Given the description of an element on the screen output the (x, y) to click on. 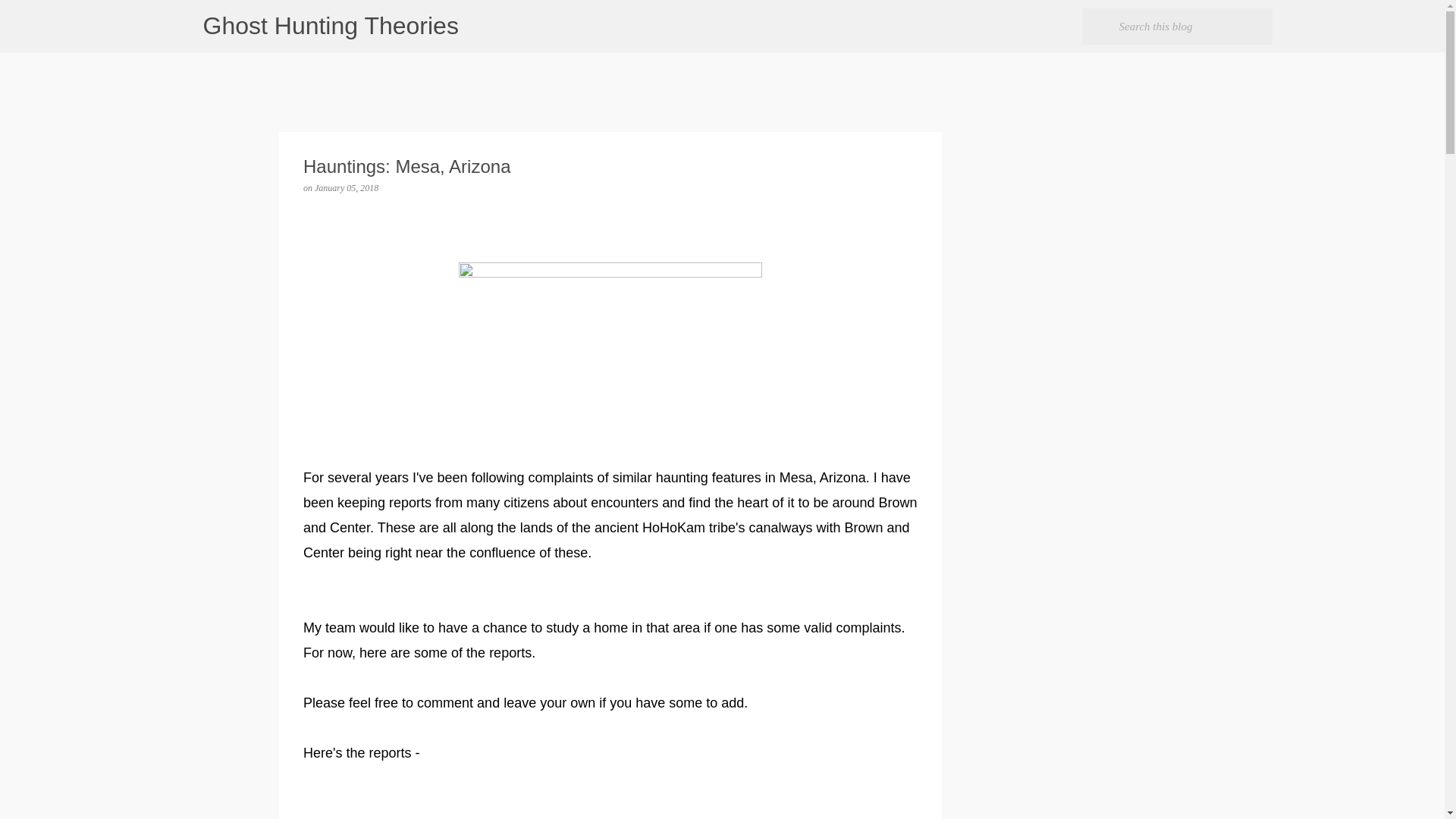
permanent link (346, 187)
Ghost Hunting Theories (330, 25)
January 05, 2018 (346, 187)
